Given the description of an element on the screen output the (x, y) to click on. 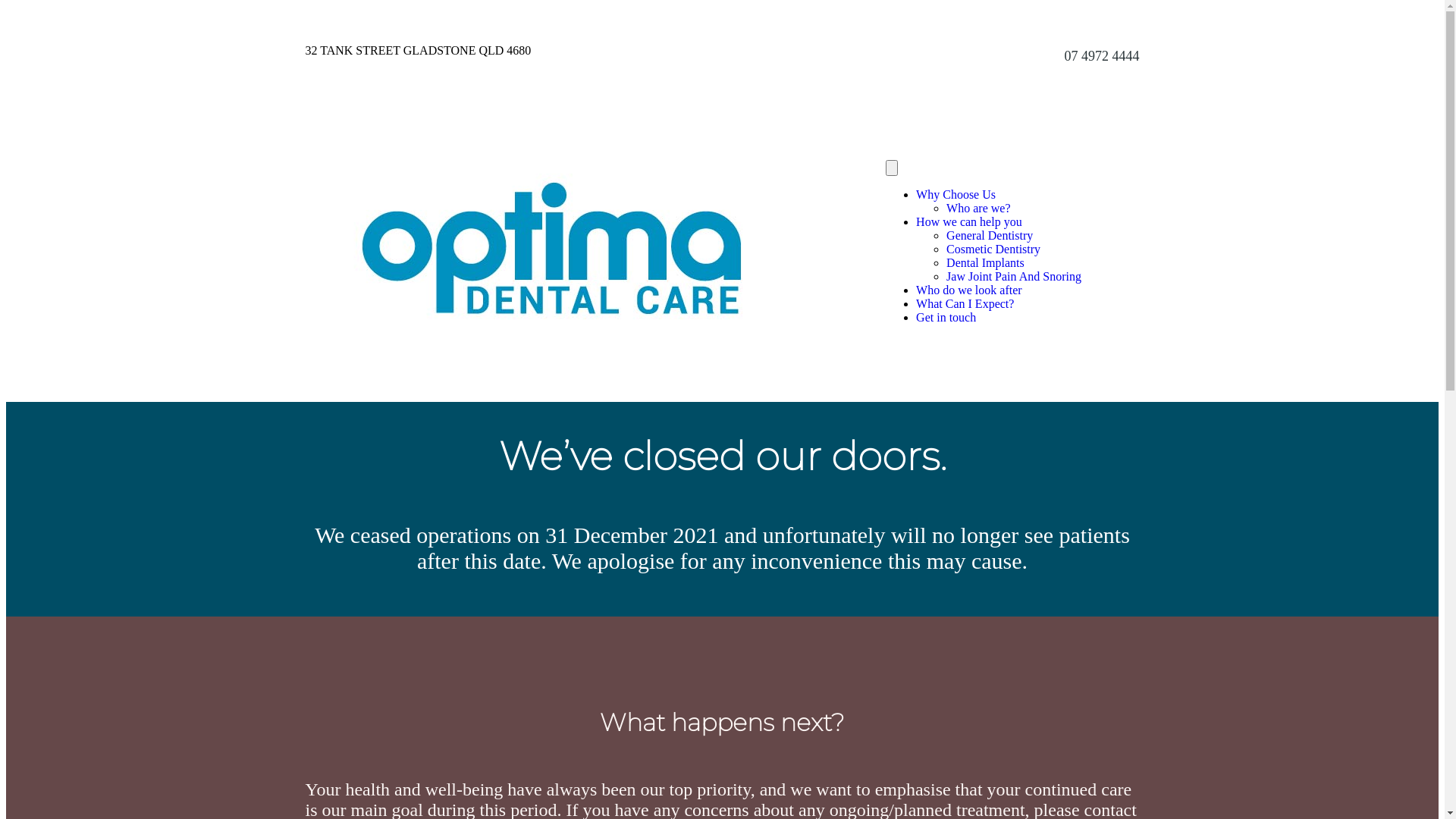
Get in touch Element type: text (945, 316)
Optima Dental Care logo 2018 - digital Element type: hover (550, 248)
Who do we look after Element type: text (969, 289)
Dental Implants Element type: text (985, 262)
How we can help you Element type: text (969, 221)
General Dentistry Element type: text (989, 235)
07 4972 4444 Element type: text (1101, 55)
Cosmetic Dentistry Element type: text (993, 248)
Who are we? Element type: text (978, 207)
Why Choose Us Element type: text (955, 194)
Jaw Joint Pain And Snoring Element type: text (1013, 275)
What Can I Expect? Element type: text (964, 303)
